Given the description of an element on the screen output the (x, y) to click on. 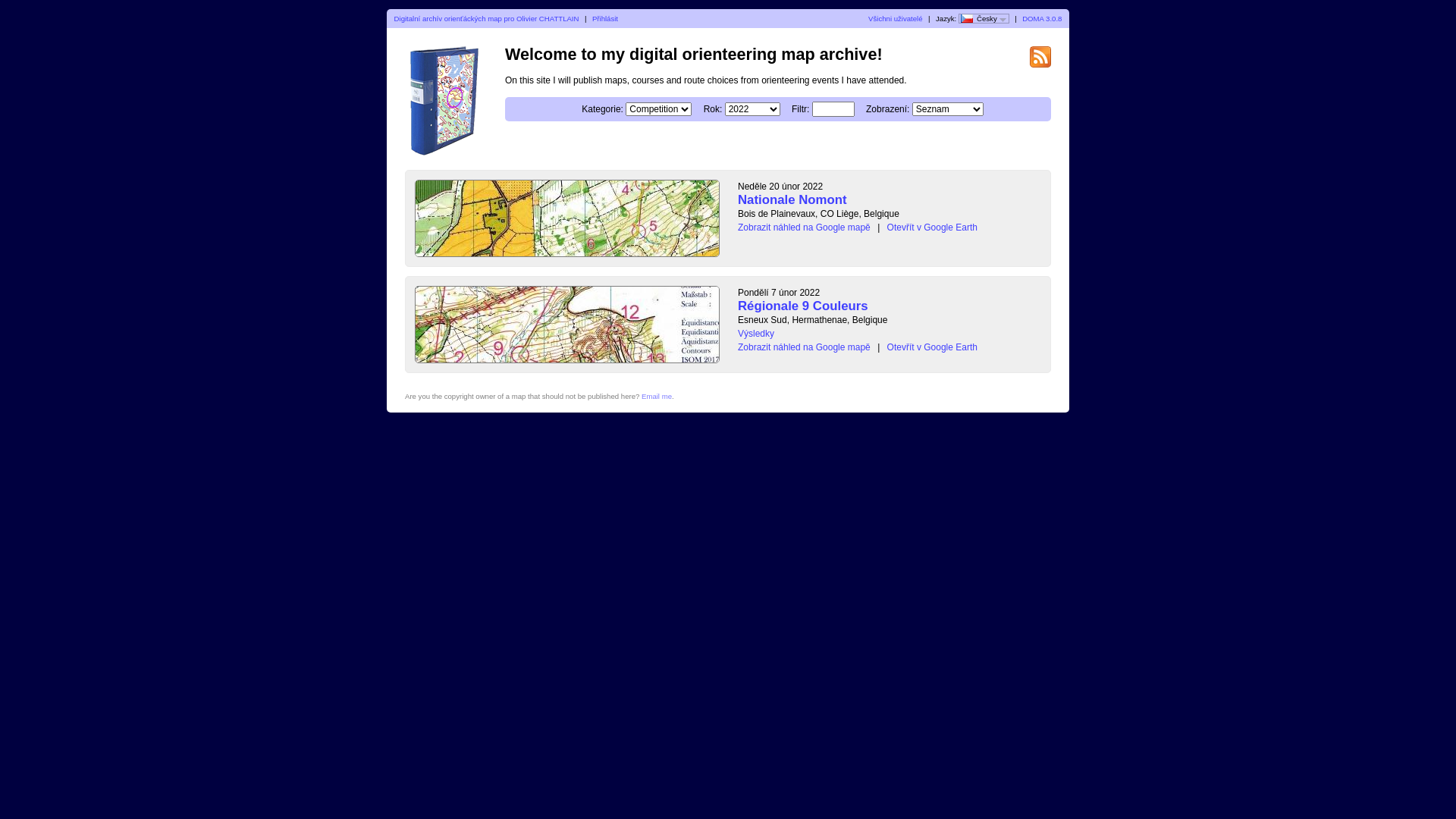
Nationale Nomont Element type: text (792, 199)
Email me Element type: text (656, 396)
DOMA 3.0.8 Element type: text (1041, 18)
